Given the description of an element on the screen output the (x, y) to click on. 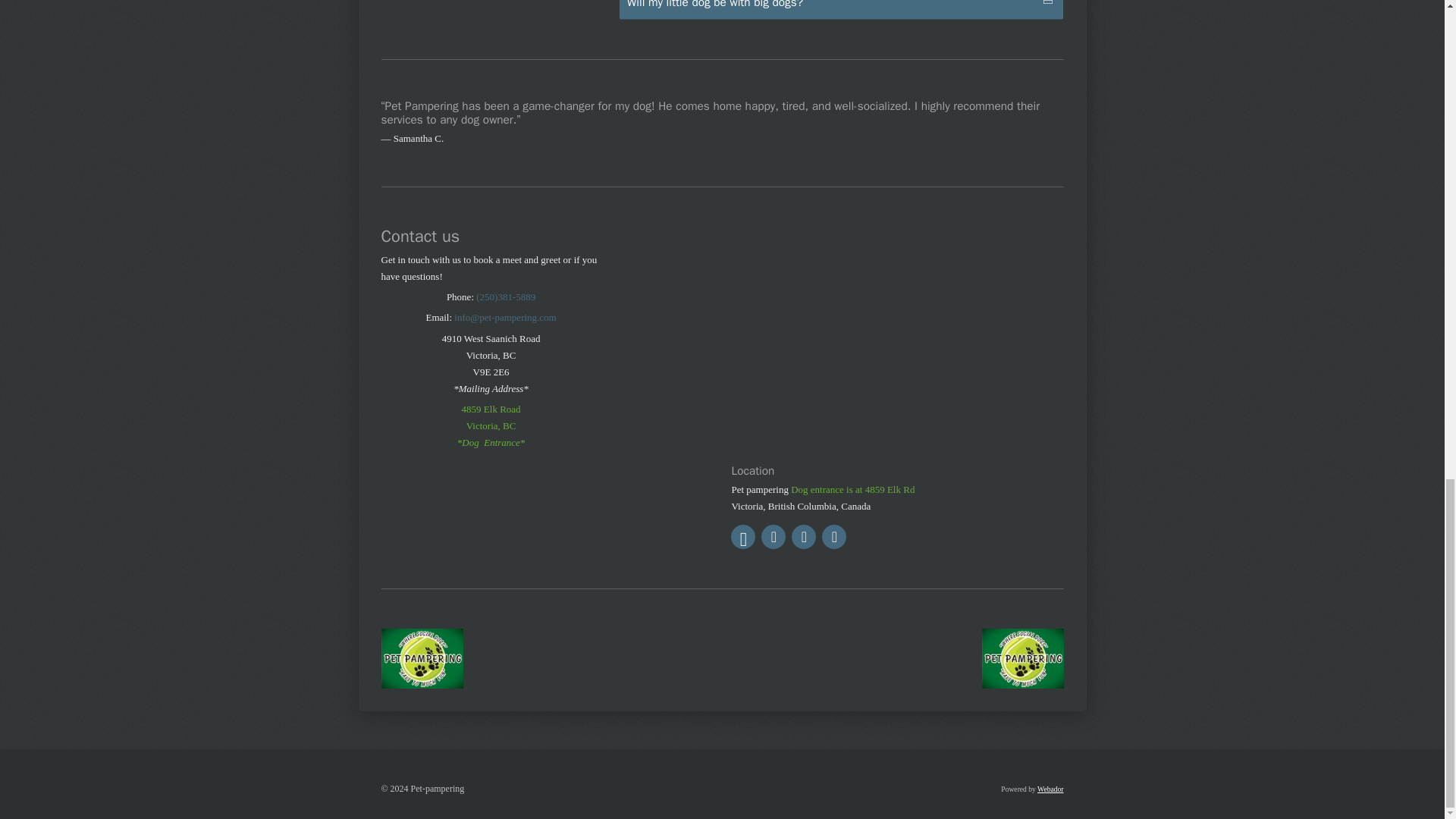
Webador (1049, 788)
